Given the description of an element on the screen output the (x, y) to click on. 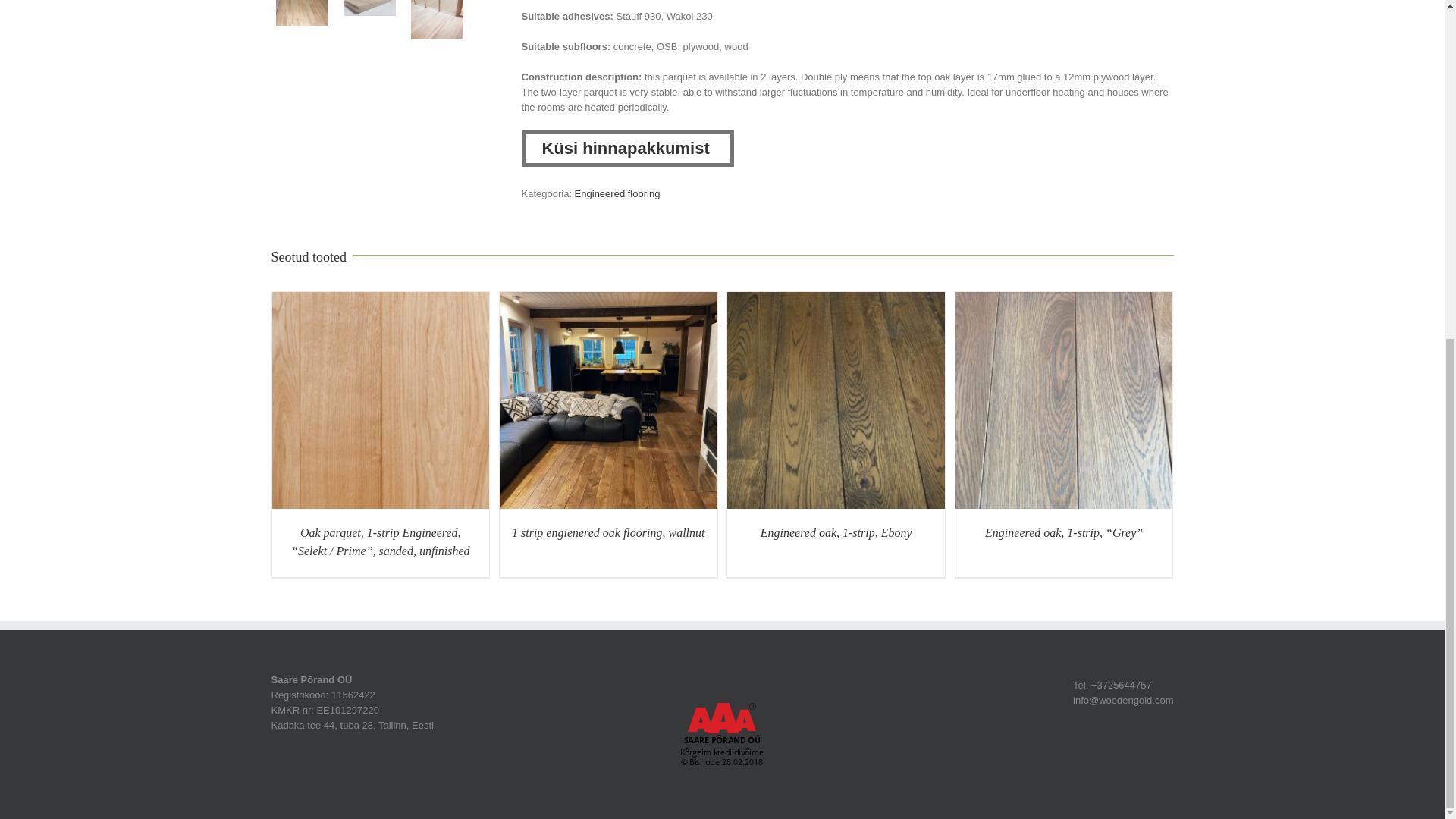
Engineered oak, 1-strip, Ebony 4 (835, 399)
1 strip engienered oak flooring, wallnut 3 (608, 399)
